Given the description of an element on the screen output the (x, y) to click on. 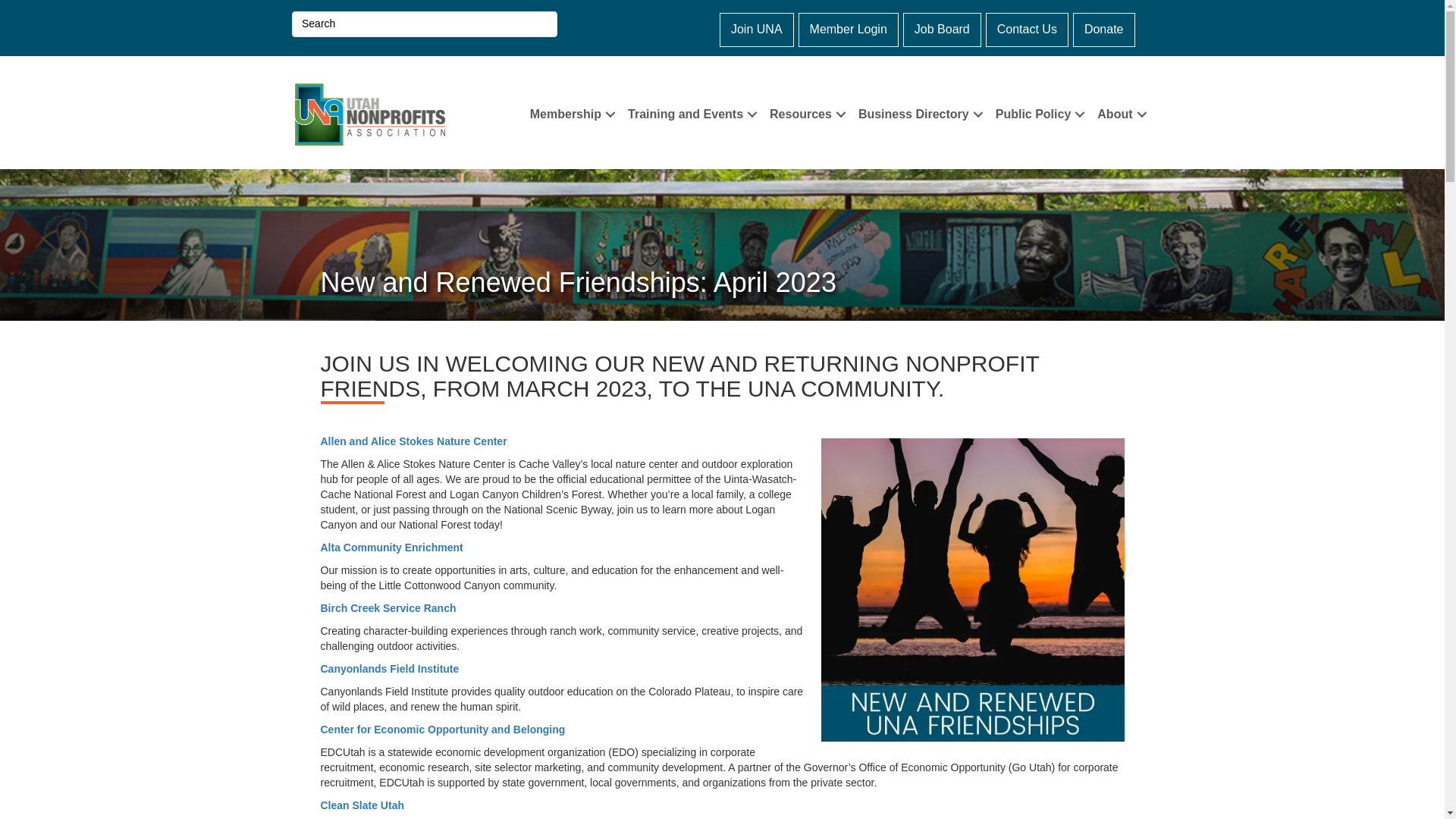
Contact Us (1026, 29)
Member Login (847, 29)
Job Board (941, 29)
Training and Events (690, 114)
Join UNA (756, 29)
Resources (805, 114)
Donate (1104, 29)
Membership (571, 114)
